Given the description of an element on the screen output the (x, y) to click on. 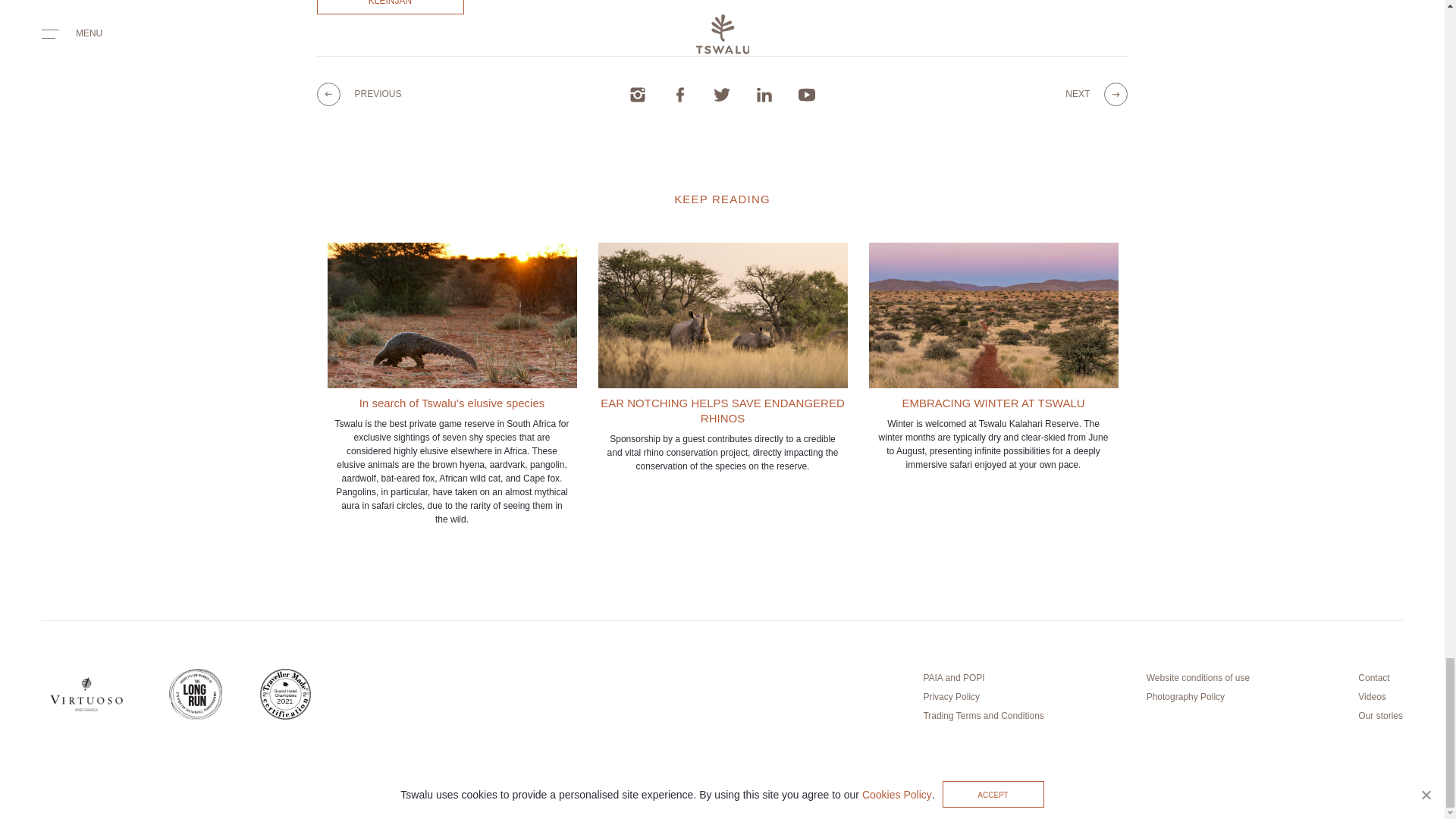
EMBRACING WINTER AT TSWALU (993, 355)
EAR NOTCHING HELPS SAVE ENDANGERED RHINOS (721, 356)
